Given the description of an element on the screen output the (x, y) to click on. 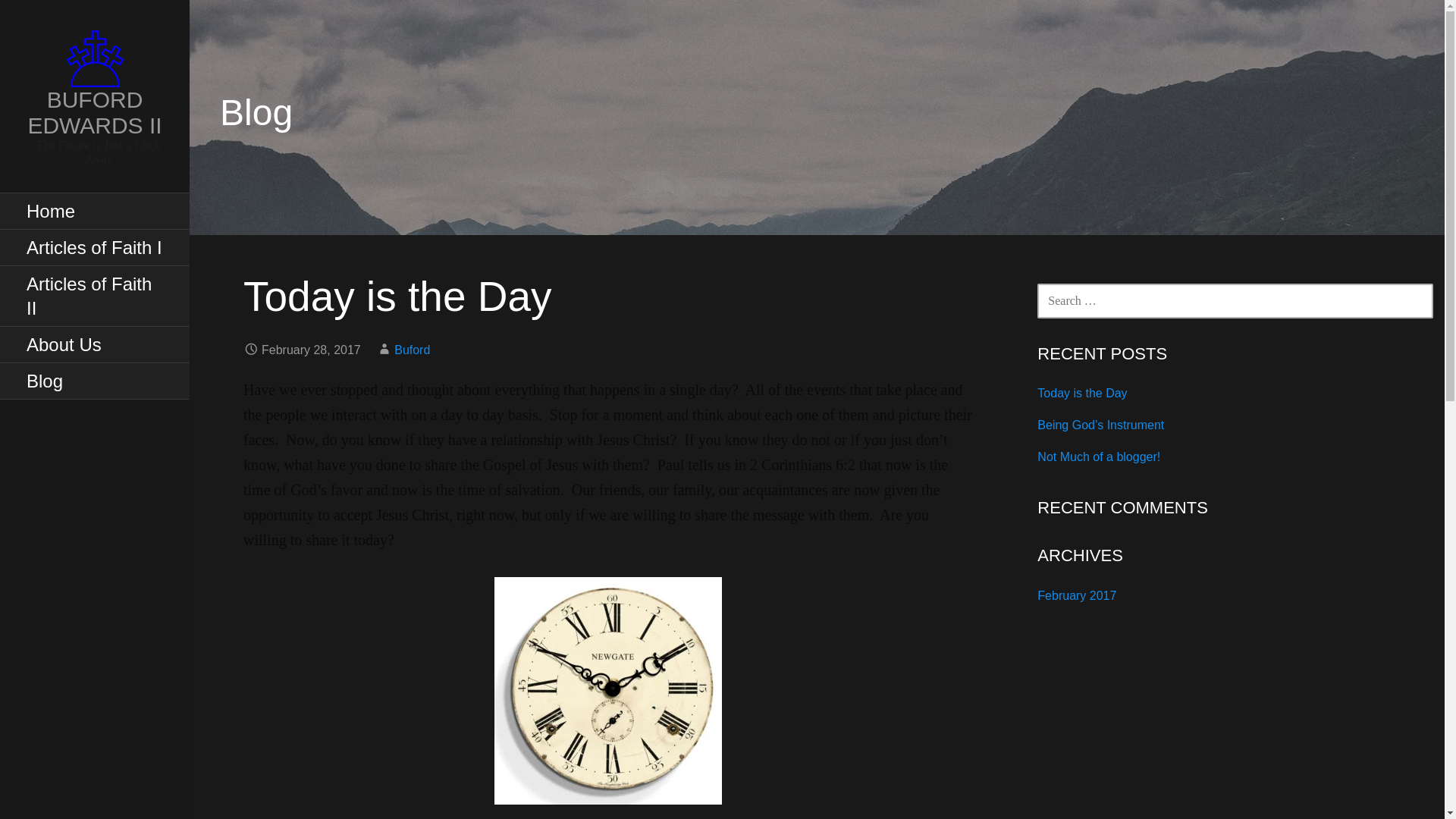
Home (94, 211)
February 2017 (1076, 594)
BUFORD EDWARDS II (94, 112)
Buford (411, 349)
Search (50, 18)
Articles of Faith I (94, 248)
Not Much of a blogger! (1098, 456)
Today is the Day (1081, 392)
Posts by Buford (411, 349)
Articles of Faith II (94, 295)
About Us (94, 344)
Blog (94, 381)
